Given the description of an element on the screen output the (x, y) to click on. 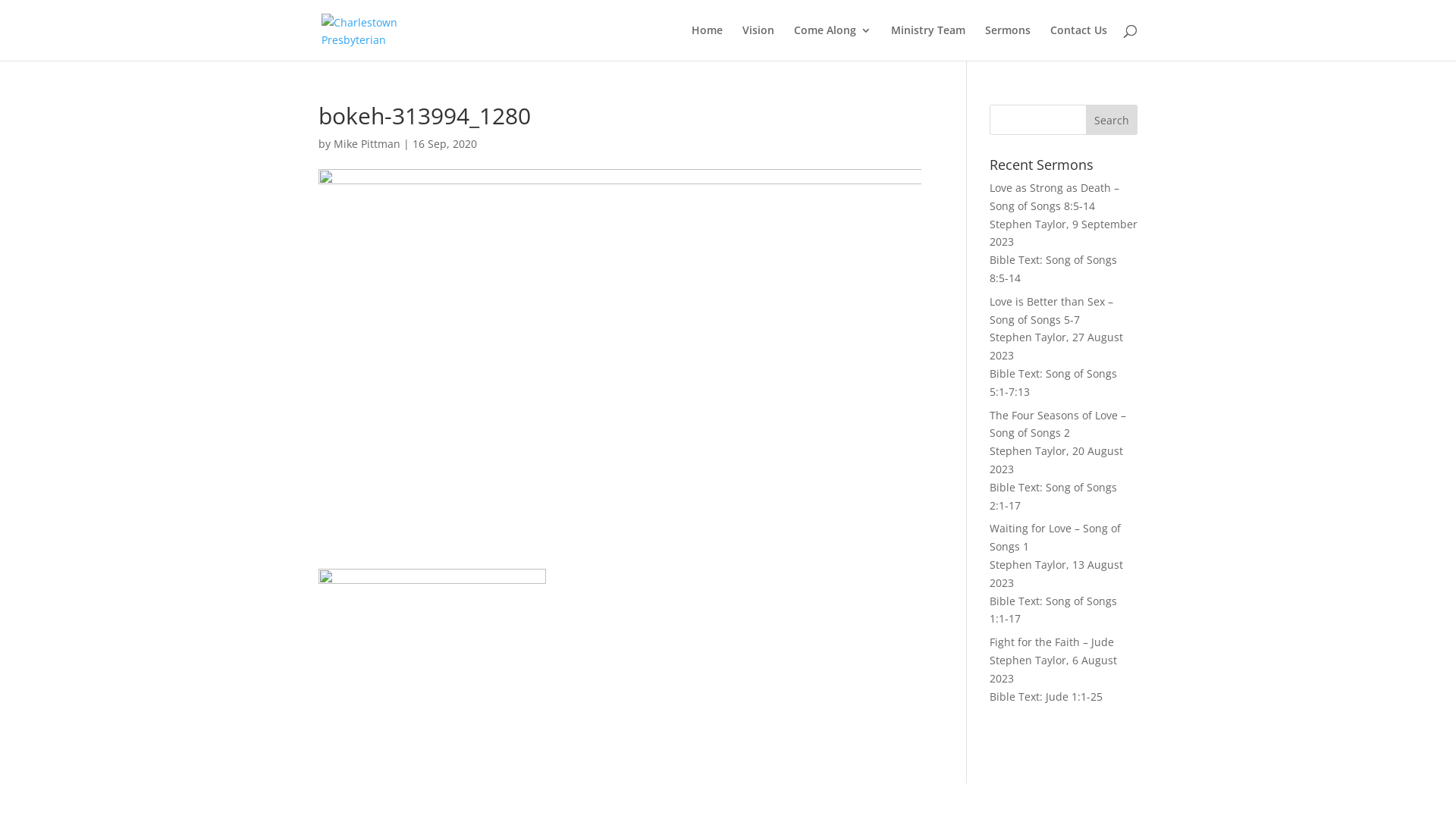
Contact Us Element type: text (1078, 42)
Search Element type: text (1111, 119)
Home Element type: text (706, 42)
Mike Pittman Element type: text (366, 143)
Come Along Element type: text (832, 42)
Sermons Element type: text (1007, 42)
Vision Element type: text (758, 42)
Ministry Team Element type: text (928, 42)
